Given the description of an element on the screen output the (x, y) to click on. 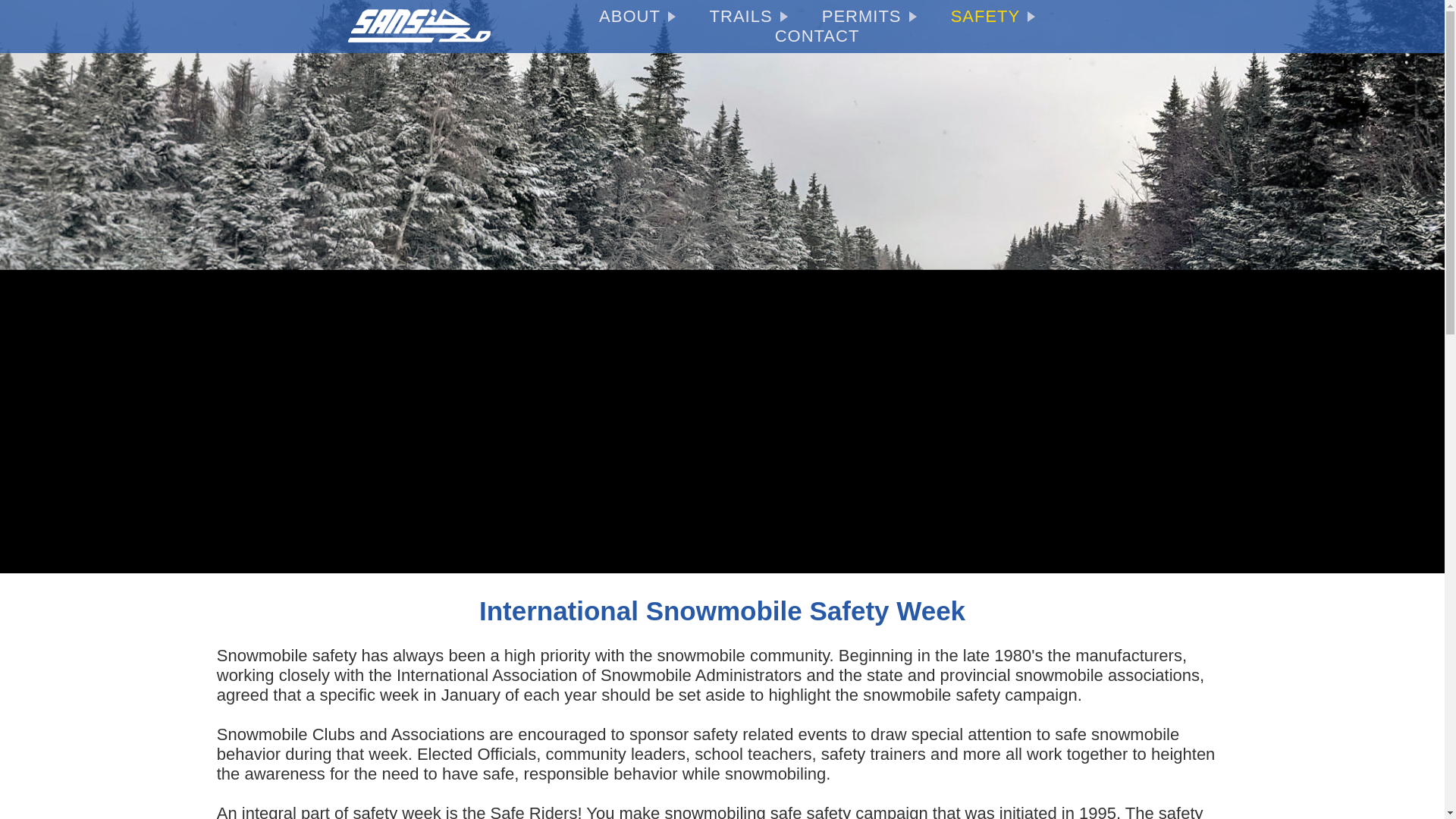
SAFETY (992, 15)
TRAILS (748, 17)
ABOUT (636, 17)
PERMITS (869, 17)
